Given the description of an element on the screen output the (x, y) to click on. 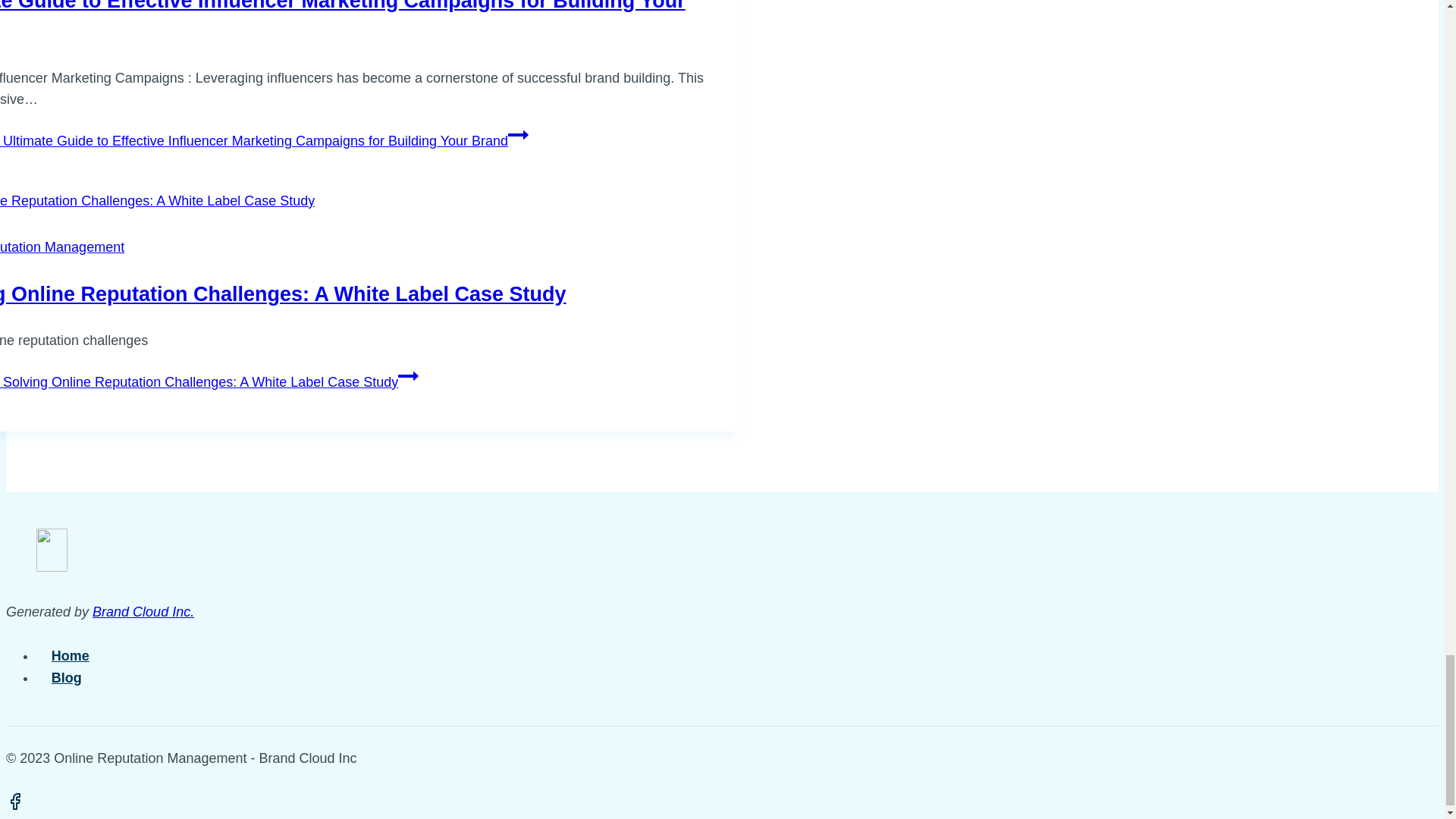
Continue (518, 134)
Facebook (14, 801)
Continue (408, 375)
Twitter (33, 801)
Online Reputation Management (61, 246)
